Given the description of an element on the screen output the (x, y) to click on. 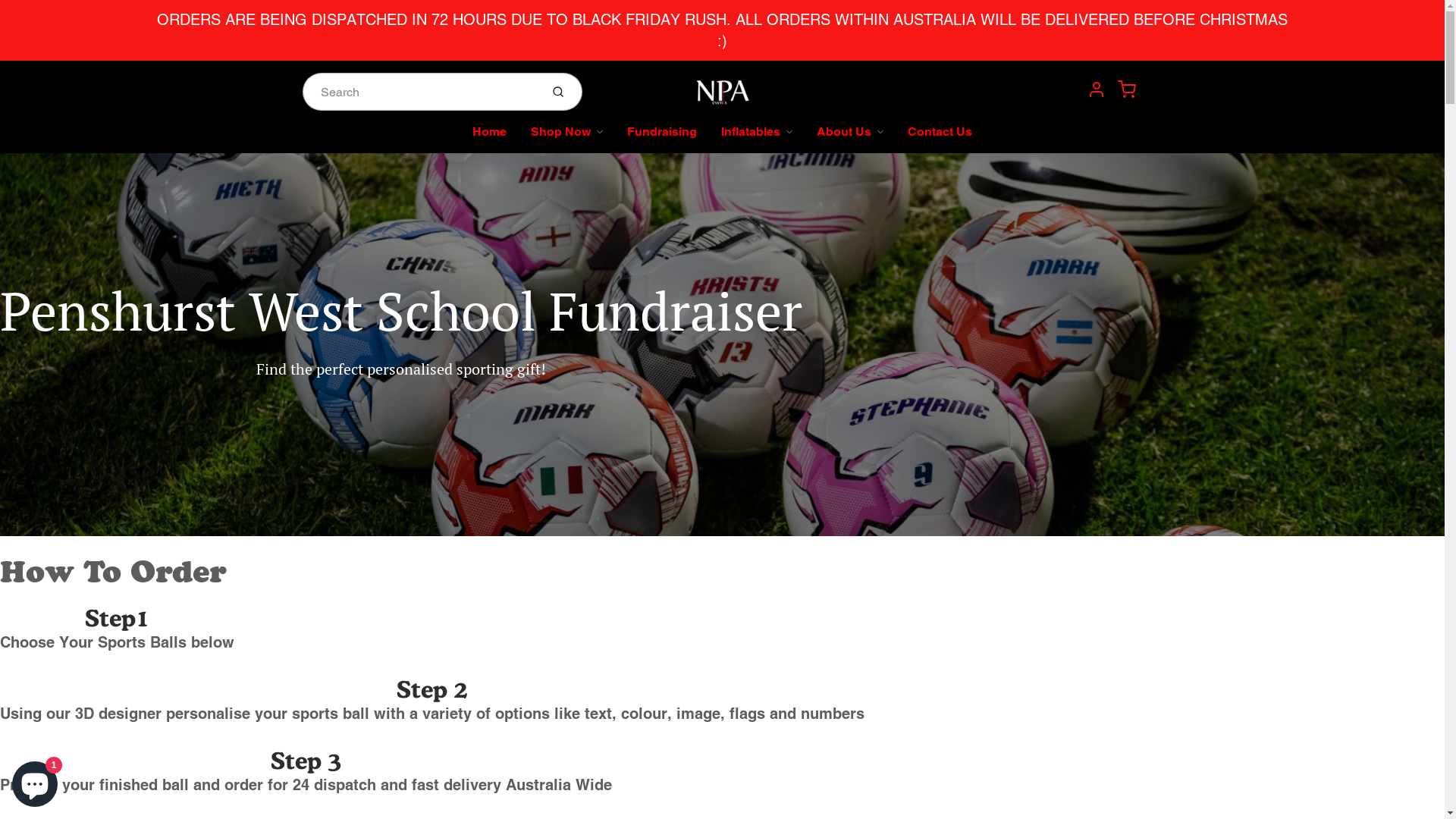
Shopify online store chat Element type: hover (34, 780)
Account Element type: text (1096, 89)
Contact Us Element type: text (939, 137)
Submit Element type: text (559, 91)
Cart Element type: text (1126, 89)
Fundraising Element type: text (662, 137)
Inflatables Element type: text (756, 137)
Shop Now Element type: text (566, 137)
About Us Element type: text (849, 137)
Home Element type: text (489, 137)
